Given the description of an element on the screen output the (x, y) to click on. 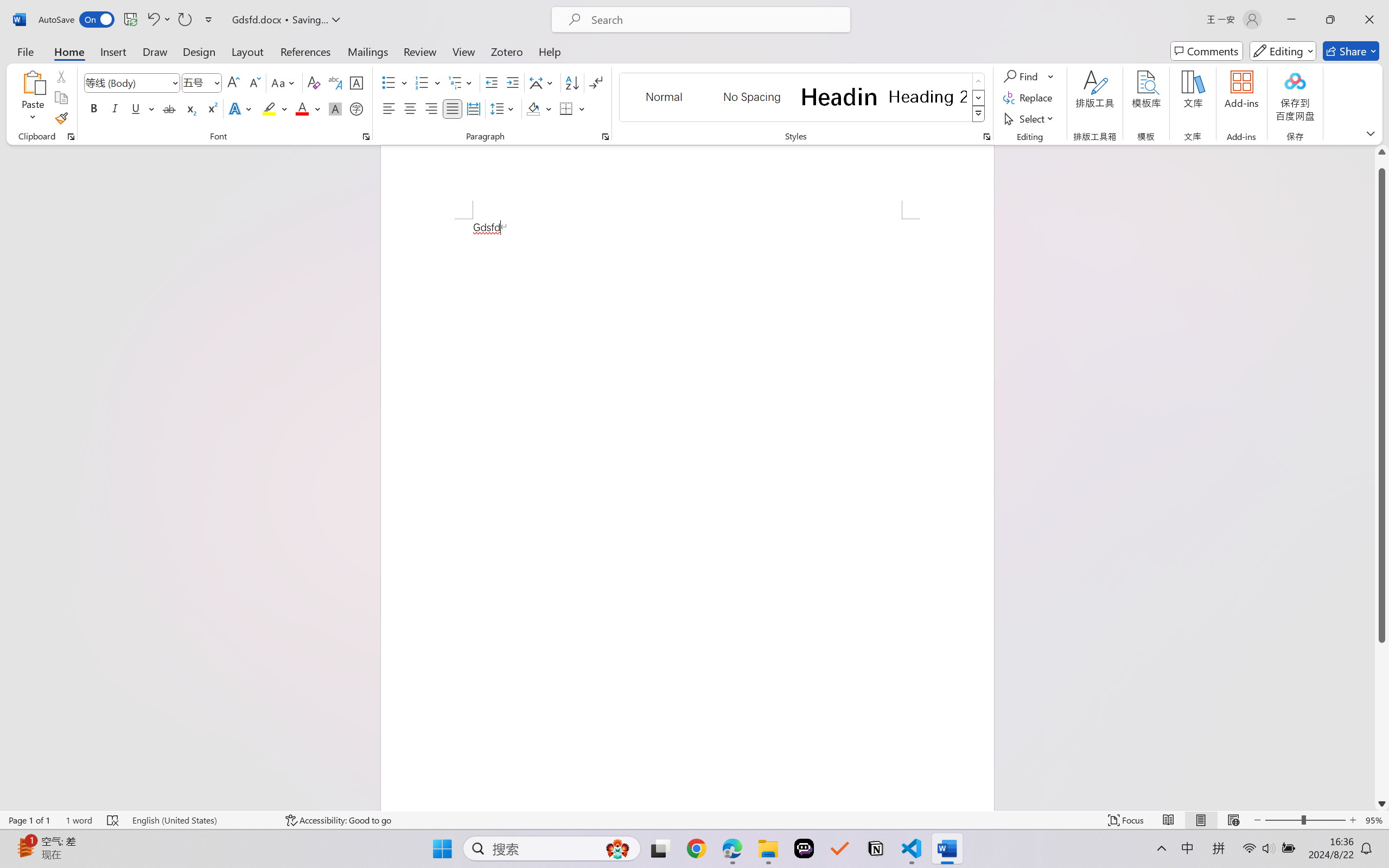
Sort... (571, 82)
Font Color Red (302, 108)
Character Shading (334, 108)
Character Border (356, 82)
Distributed (473, 108)
